Given the description of an element on the screen output the (x, y) to click on. 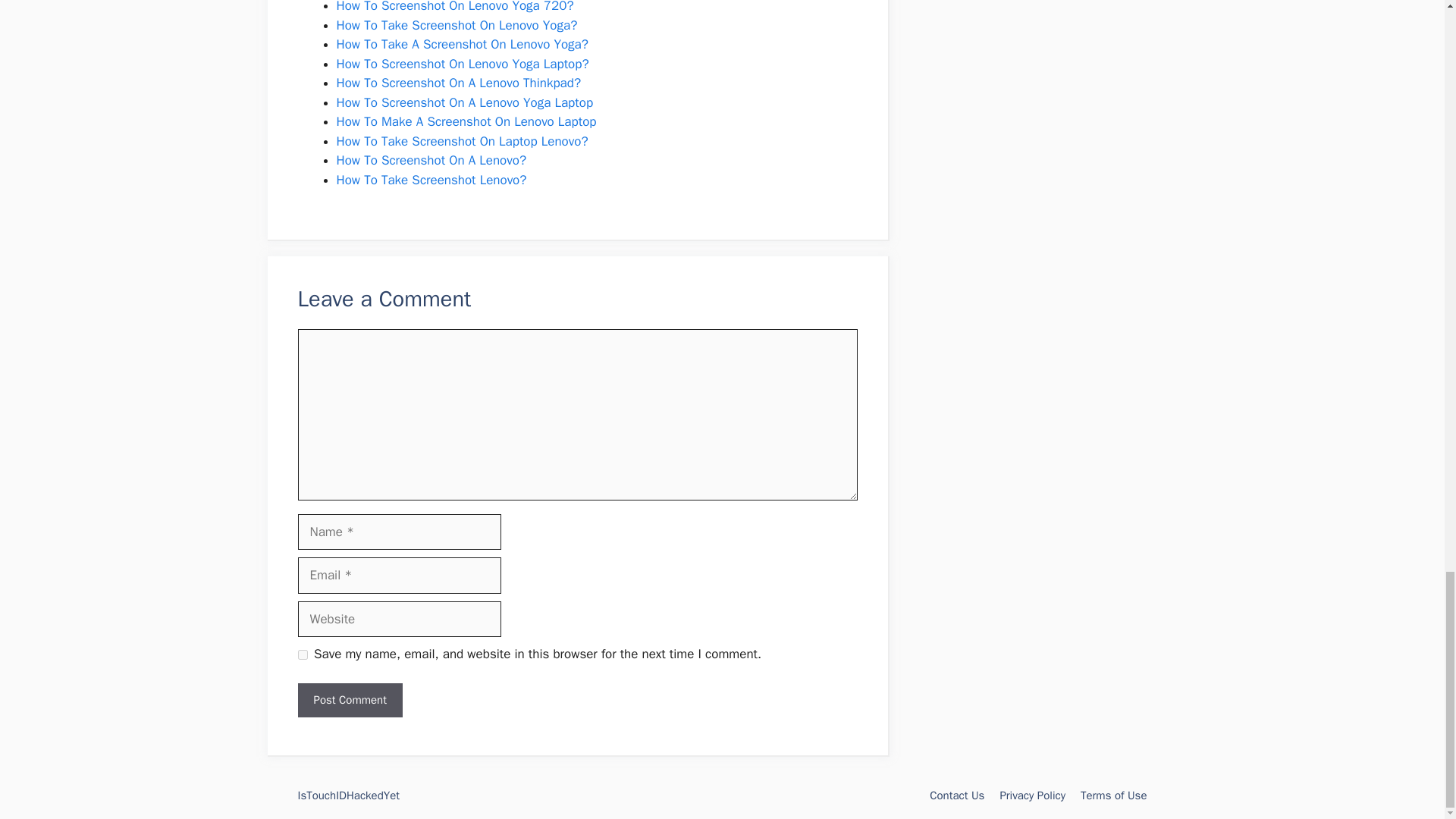
How To Screenshot On Lenovo Yoga Laptop? (462, 64)
yes (302, 655)
How To Take Screenshot On Lenovo Yoga? (457, 25)
How To Take Screenshot Lenovo? (431, 179)
How To Screenshot On Lenovo Yoga 720? (454, 6)
How To Take Screenshot Lenovo? (431, 179)
How To Take A Screenshot On Lenovo Yoga? (462, 44)
How To Screenshot On Lenovo Yoga Laptop? (462, 64)
How To Screenshot On A Lenovo? (431, 160)
How To Screenshot On A Lenovo Yoga Laptop (465, 102)
